Given the description of an element on the screen output the (x, y) to click on. 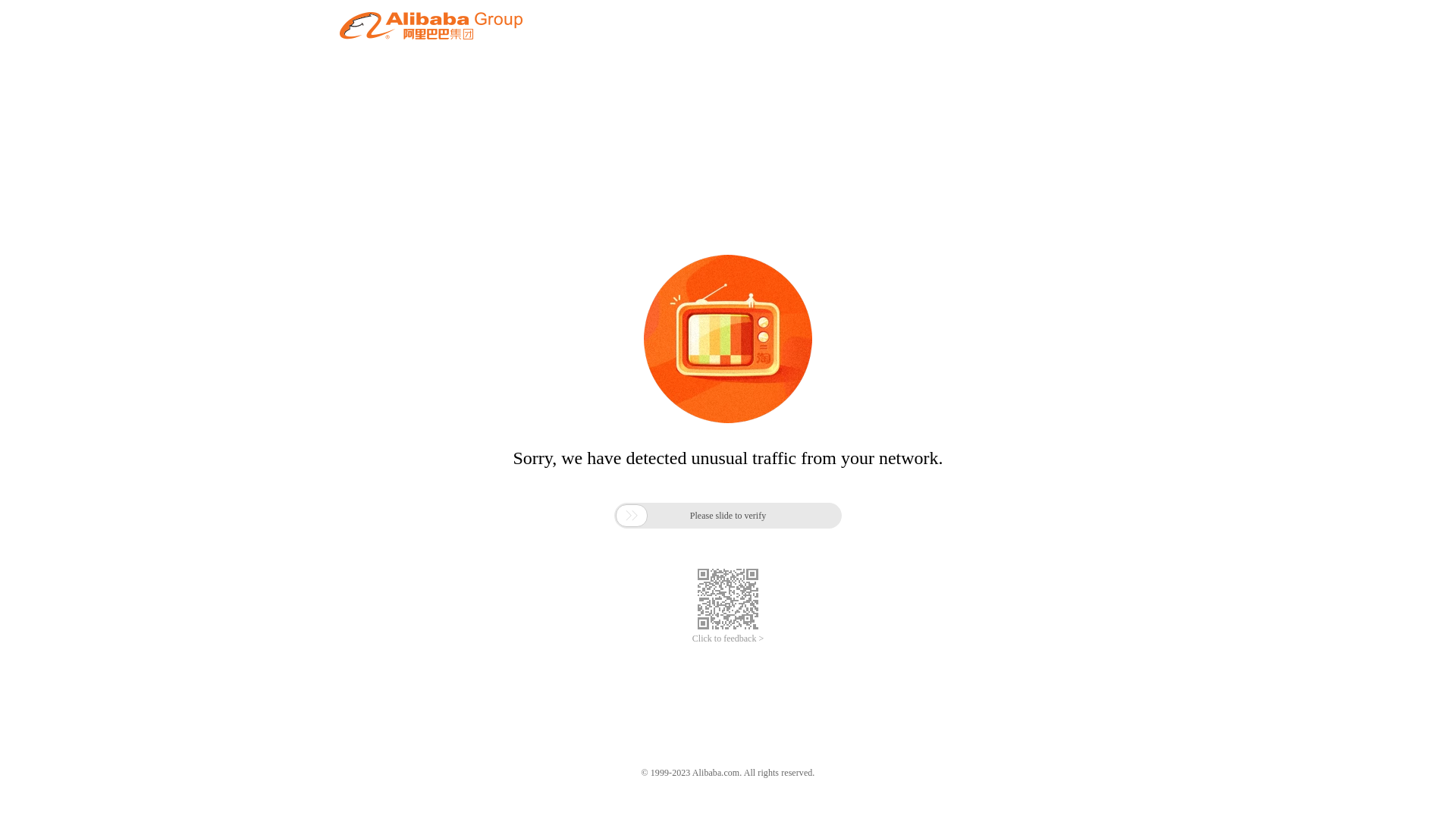
Click to feedback > Element type: text (727, 638)
